Given the description of an element on the screen output the (x, y) to click on. 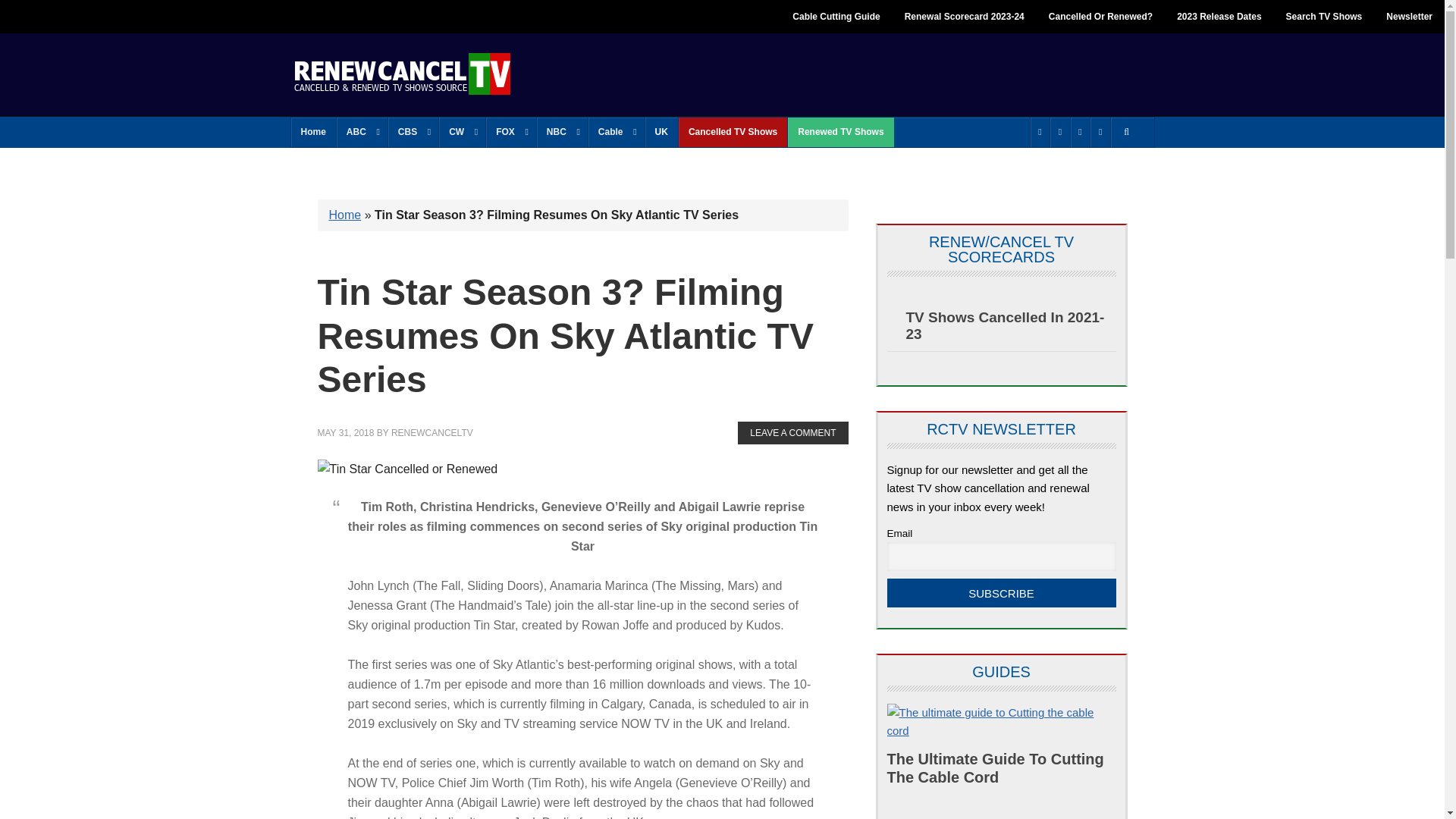
2023 Release Dates (1218, 16)
Subscribe (1001, 592)
CBS (412, 132)
Search TV Shows (1324, 16)
Cancelled Or Renewed? (1100, 16)
ABC (361, 132)
Renewal Scorecard 2023-24 (964, 16)
Home (313, 132)
Cable Cutting Guide (835, 16)
RENEWCANCELTV (401, 73)
